Given the description of an element on the screen output the (x, y) to click on. 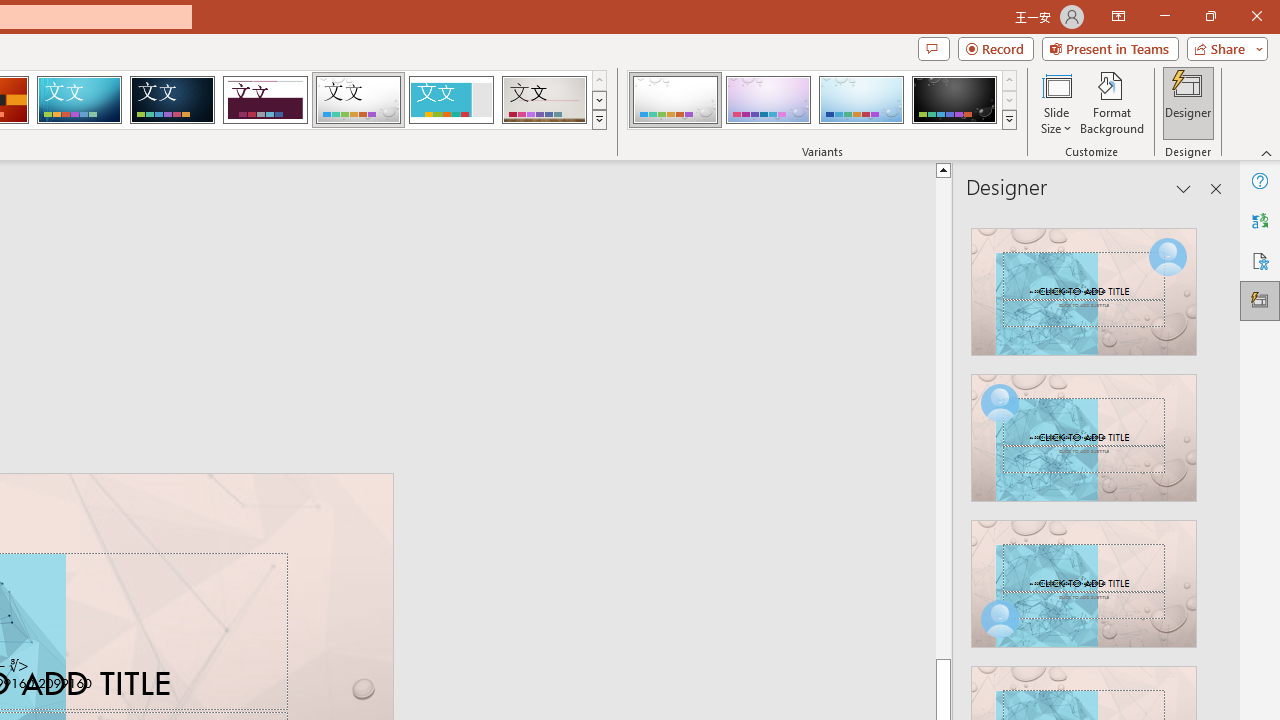
Recommended Design: Design Idea (1083, 286)
Droplet Variant 3 (861, 100)
Droplet Variant 4 (953, 100)
Gallery (544, 100)
Format Background (1111, 102)
Droplet Variant 2 (768, 100)
Droplet (358, 100)
